Given the description of an element on the screen output the (x, y) to click on. 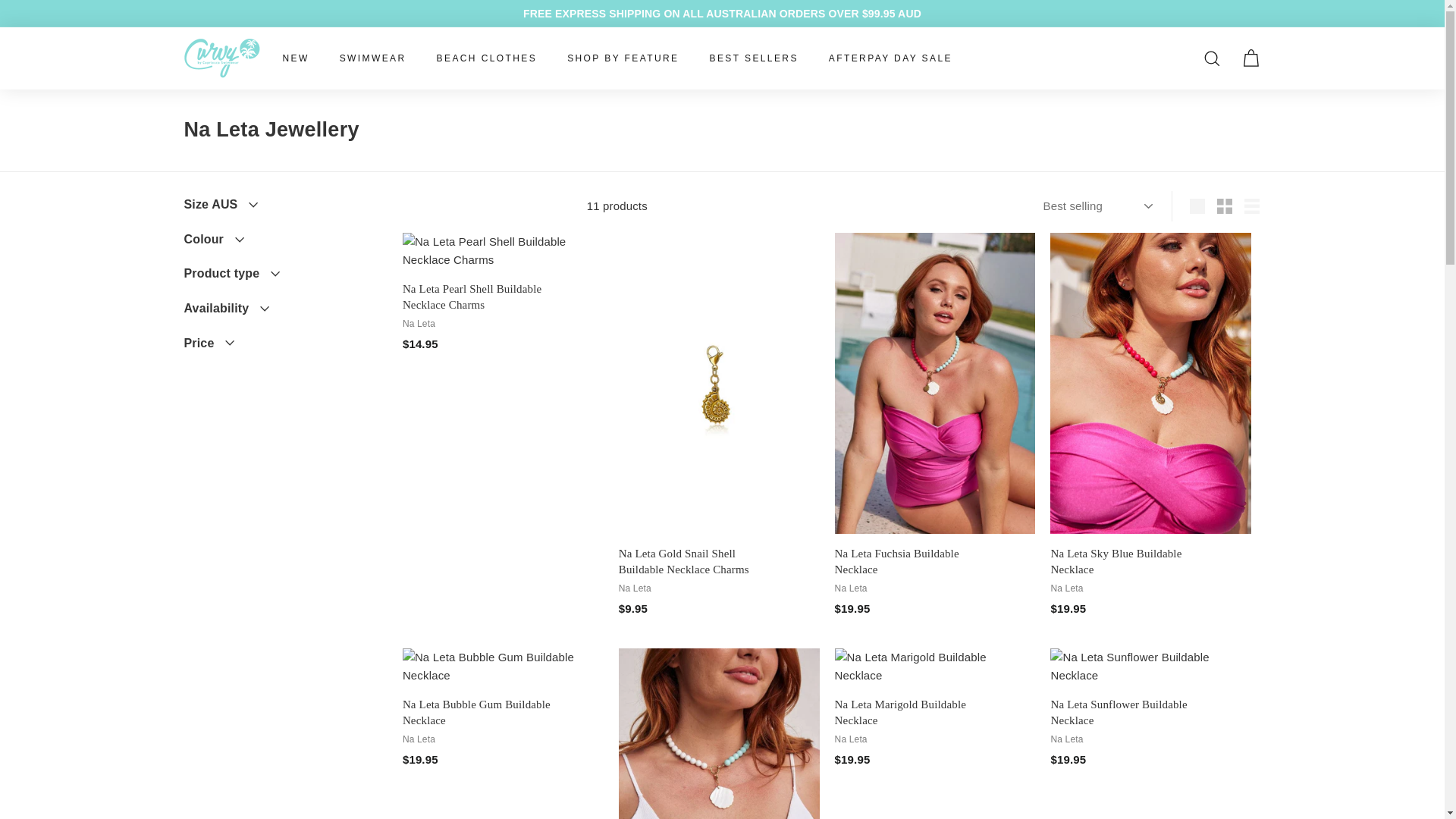
List (1252, 205)
Small (1225, 205)
NEW (294, 58)
SWIMWEAR (373, 58)
Large (1197, 205)
